Given the description of an element on the screen output the (x, y) to click on. 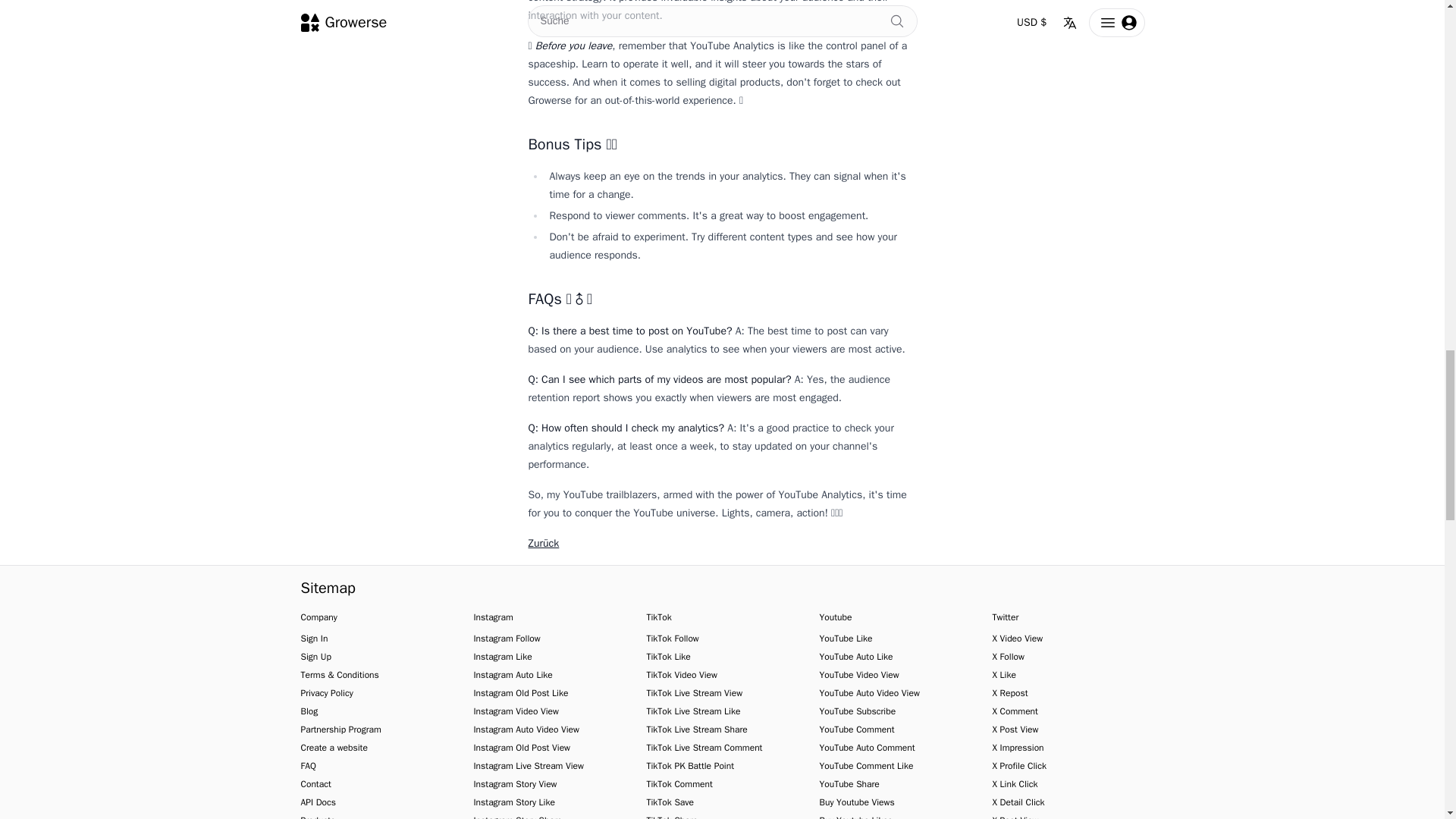
Create a website (332, 747)
Sign Up (315, 656)
Sign In (313, 638)
Instagram Old Post Like (520, 693)
FAQ (307, 766)
Instagram Follow (506, 638)
Instagram Old Post View (521, 747)
Instagram Story View (514, 784)
Instagram Video View (515, 711)
Instagram Live Stream View (528, 766)
Instagram Auto Video View (526, 729)
Privacy Policy (325, 693)
API Docs (317, 802)
Contact (314, 784)
Instagram Like (502, 656)
